Given the description of an element on the screen output the (x, y) to click on. 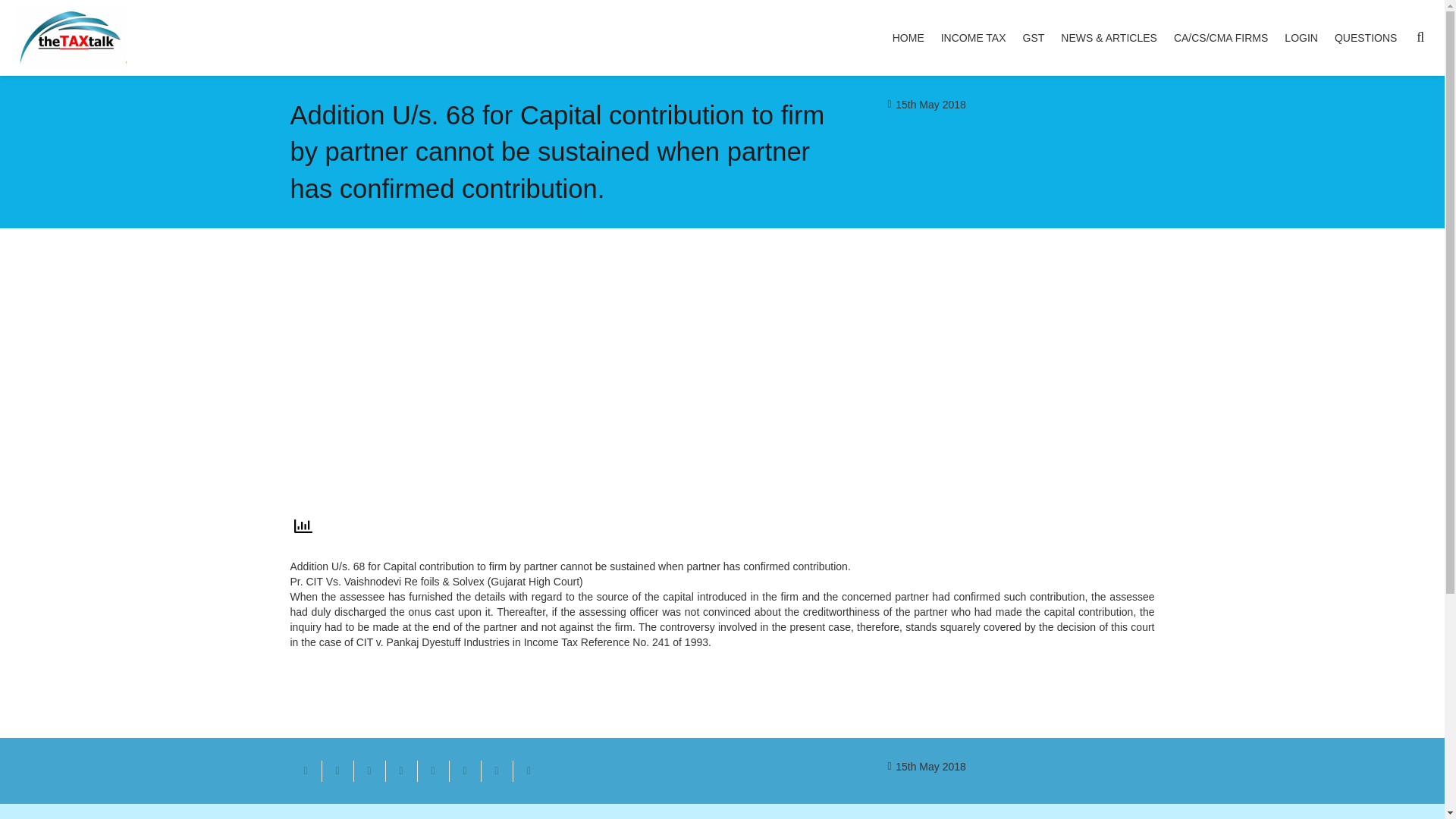
Share this (337, 771)
Email this (305, 771)
Share this (400, 771)
Share this (528, 771)
INCOME TAX (973, 38)
Tweet this (369, 771)
Share this (464, 771)
Share this (496, 771)
Pin this (432, 771)
